Given the description of an element on the screen output the (x, y) to click on. 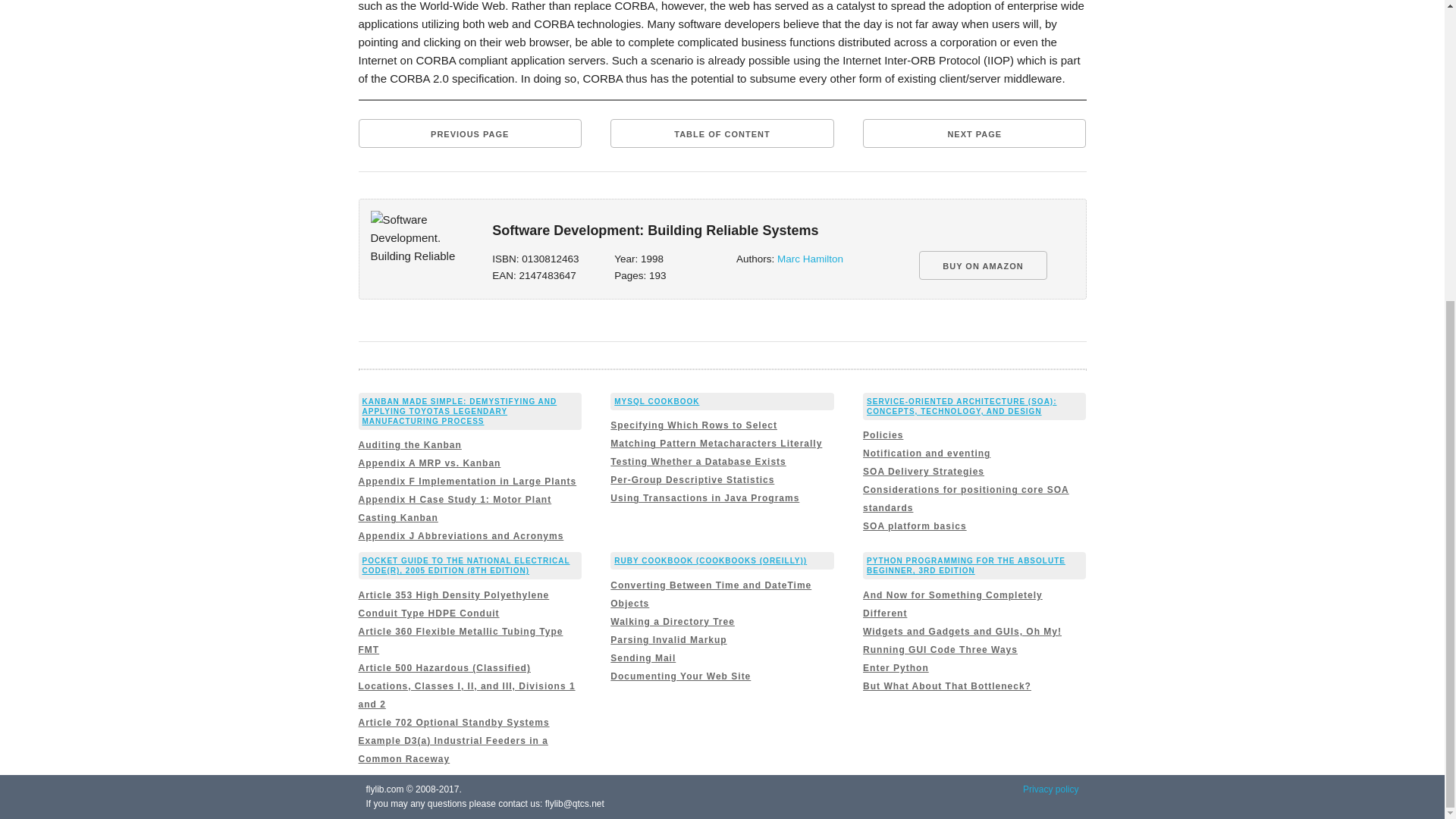
Considerations for positioning core SOA standards (965, 498)
PYTHON PROGRAMMING FOR THE ABSOLUTE BEGINNER, 3RD EDITION (965, 565)
Article 360 Flexible Metallic Tubing Type FMT (460, 640)
Software Development. Building Reliable Systems (416, 238)
Auditing the Kanban (409, 444)
Sending Mail (642, 657)
Article 702 Optional Standby Systems (453, 722)
Using Transactions in Java Programs (704, 498)
Testing Whether a Database Exists (698, 461)
Documenting Your Web Site (680, 675)
